Given the description of an element on the screen output the (x, y) to click on. 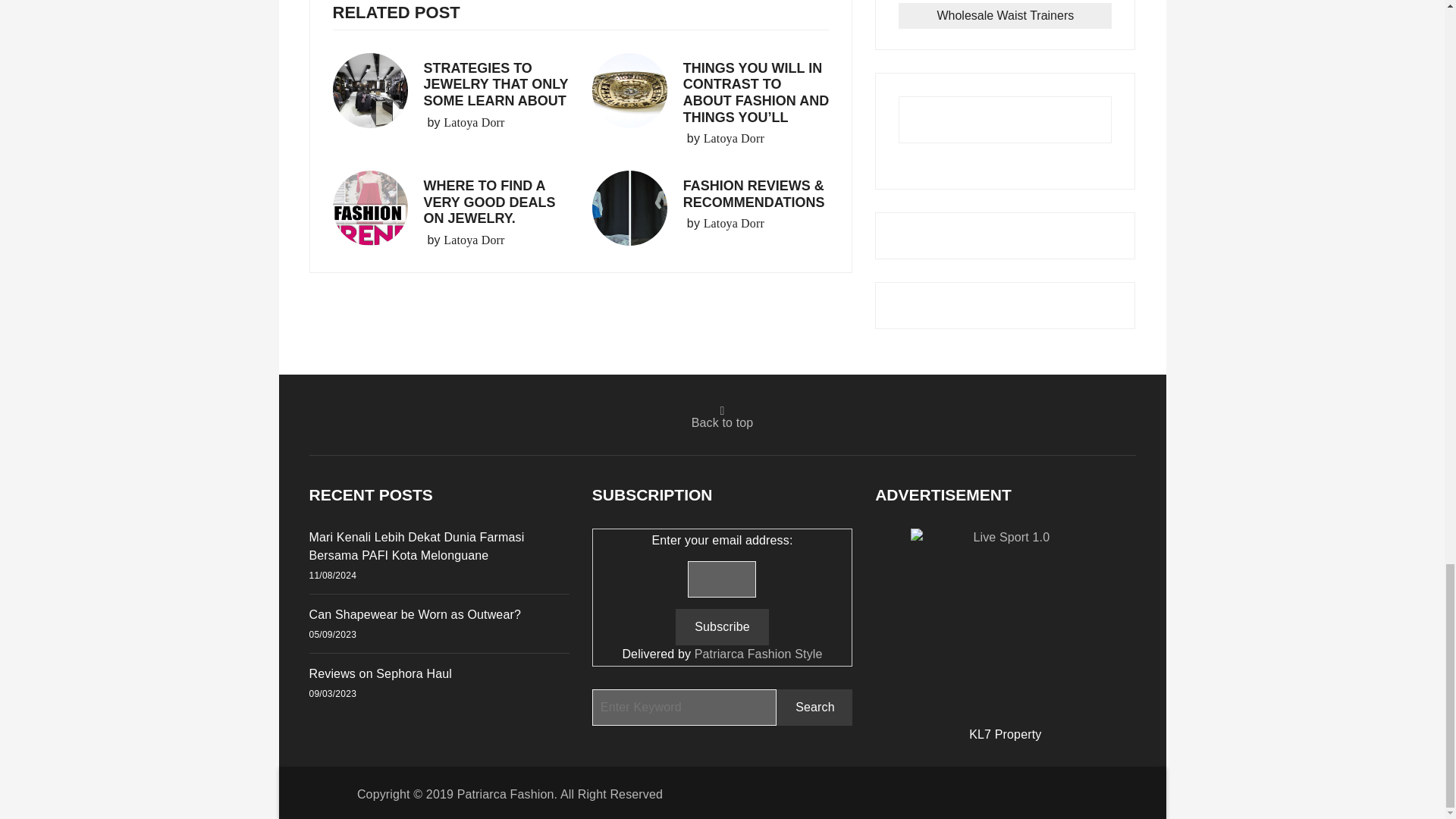
Subscribe (721, 627)
Latoya Dorr (473, 239)
Latoya Dorr (733, 138)
STRATEGIES TO JEWELRY THAT ONLY SOME LEARN ABOUT (495, 84)
Latoya Dorr (733, 223)
Search (813, 707)
Live Sport 1.0 (1005, 623)
Latoya Dorr (473, 122)
WHERE TO FIND A VERY GOOD DEALS ON JEWELRY. (488, 202)
